Given the description of an element on the screen output the (x, y) to click on. 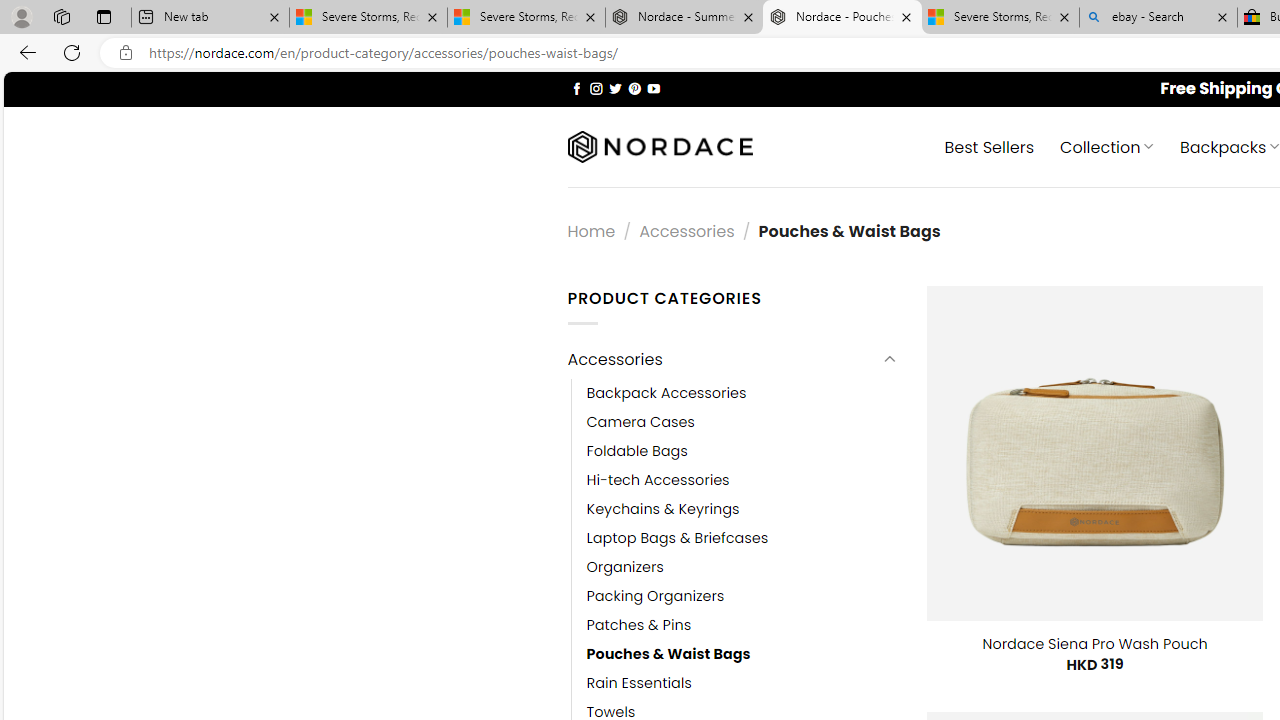
Pouches & Waist Bags (742, 655)
Rain Essentials (742, 683)
Packing Organizers (742, 596)
Foldable Bags (742, 450)
